Given the description of an element on the screen output the (x, y) to click on. 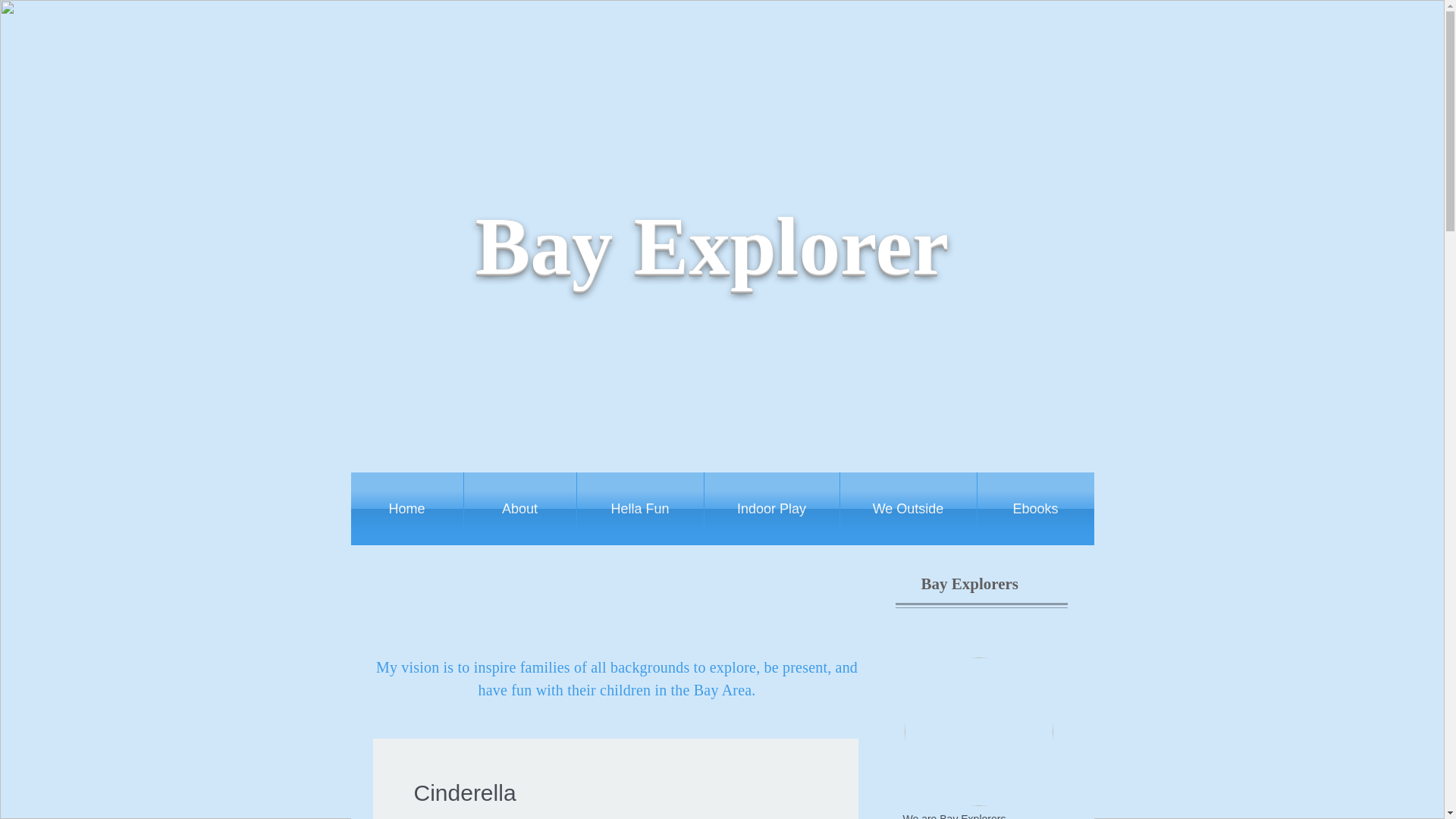
Home (406, 508)
We Outside (908, 508)
Ebooks (1034, 508)
Hella Fun (639, 508)
Indoor Play (770, 508)
